Given the description of an element on the screen output the (x, y) to click on. 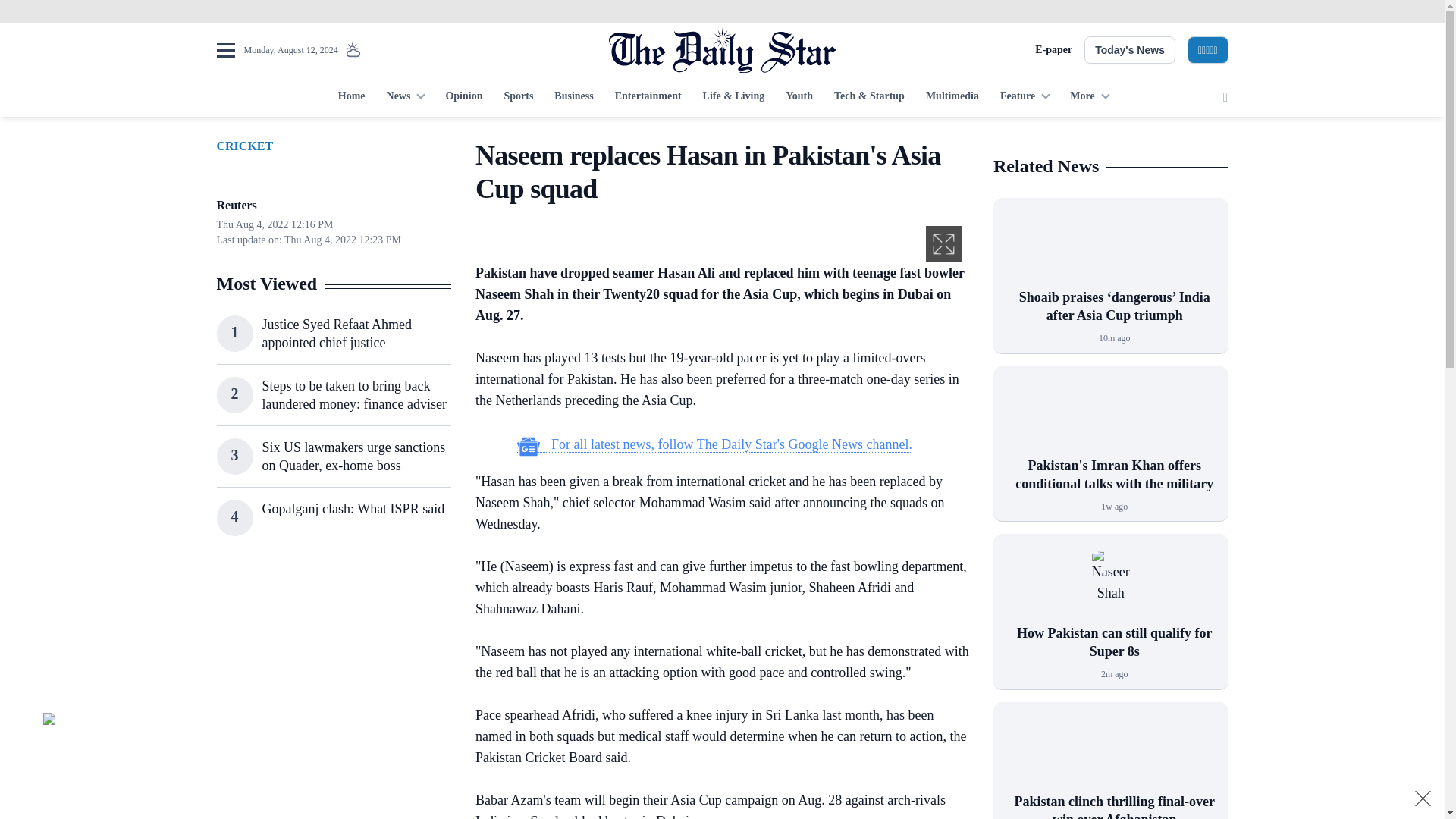
Opinion (463, 96)
Feature (1024, 96)
Entertainment (647, 96)
E-paper (1053, 49)
Home (351, 96)
Business (573, 96)
Youth (799, 96)
Naseem Shah (1110, 586)
Sports (518, 96)
